Given the description of an element on the screen output the (x, y) to click on. 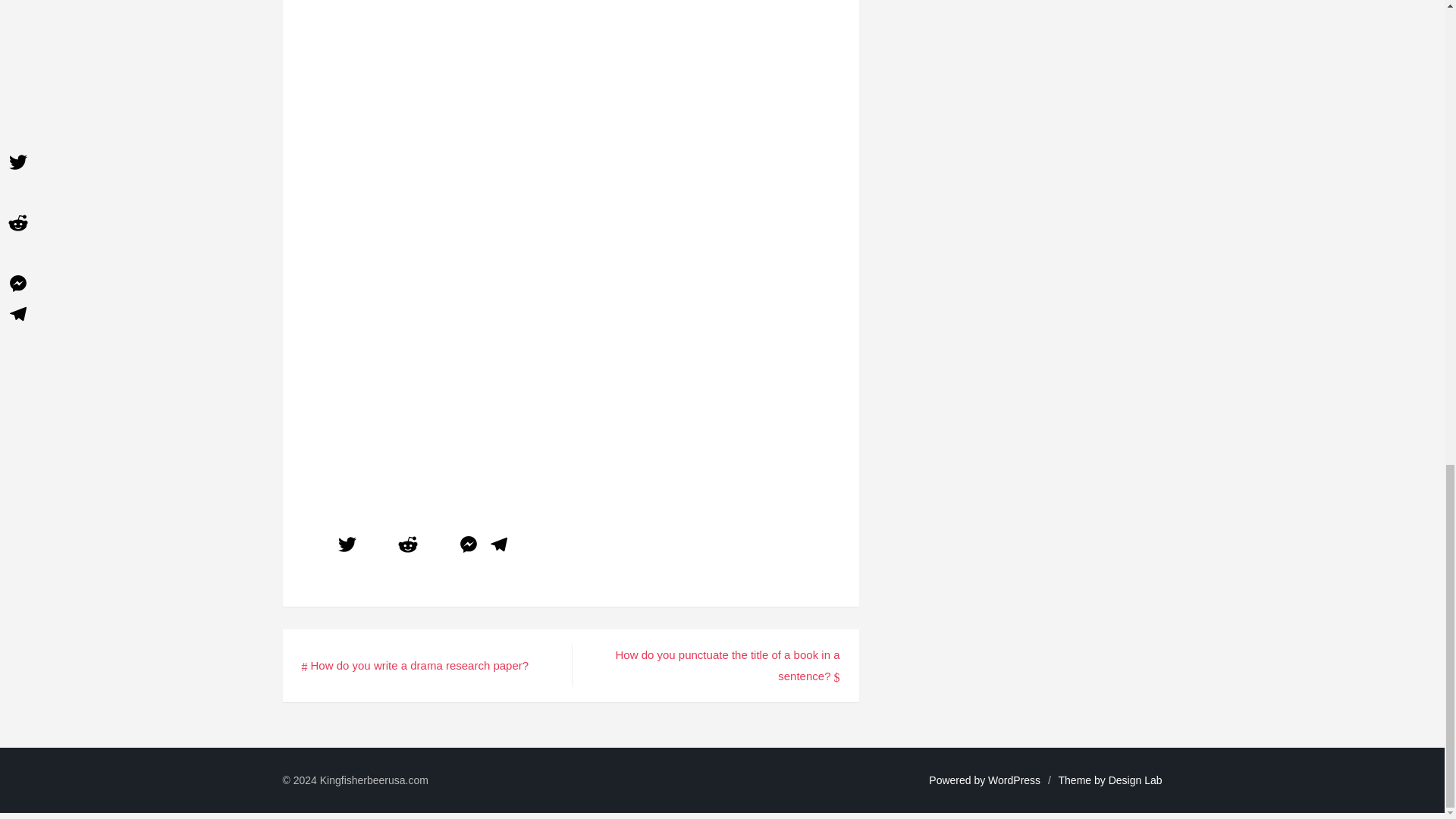
Theme by Design Lab (1109, 779)
Email (377, 546)
WhatsApp (437, 546)
Telegram (498, 546)
Email (377, 546)
Reddit (408, 546)
Twitter (346, 546)
Facebook (316, 546)
Facebook (316, 546)
Messenger (467, 546)
